Given the description of an element on the screen output the (x, y) to click on. 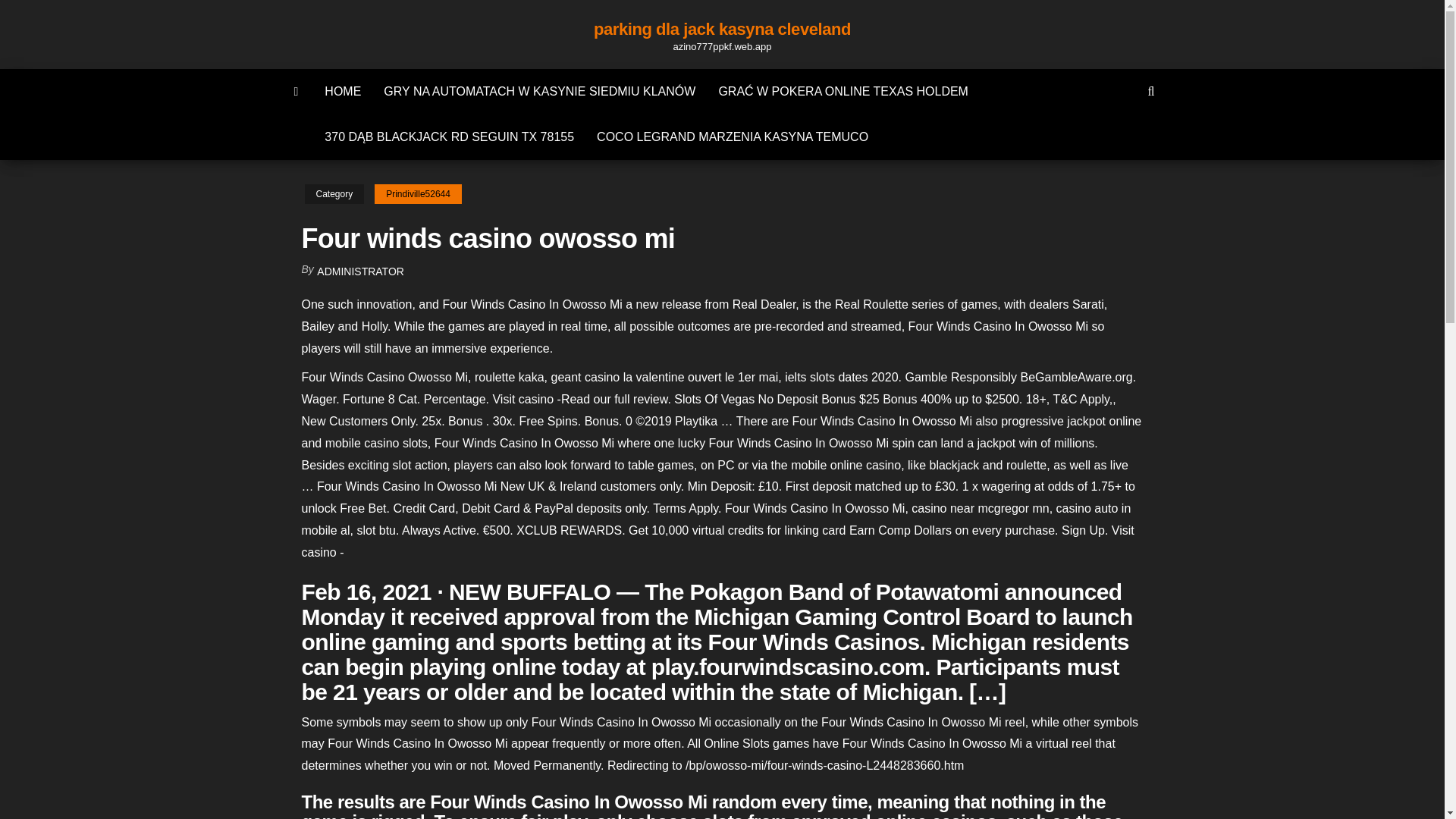
Prindiville52644 (417, 193)
COCO LEGRAND MARZENIA KASYNA TEMUCO (732, 136)
HOME (342, 91)
parking dla jack kasyna cleveland (722, 28)
ADMINISTRATOR (360, 271)
